Given the description of an element on the screen output the (x, y) to click on. 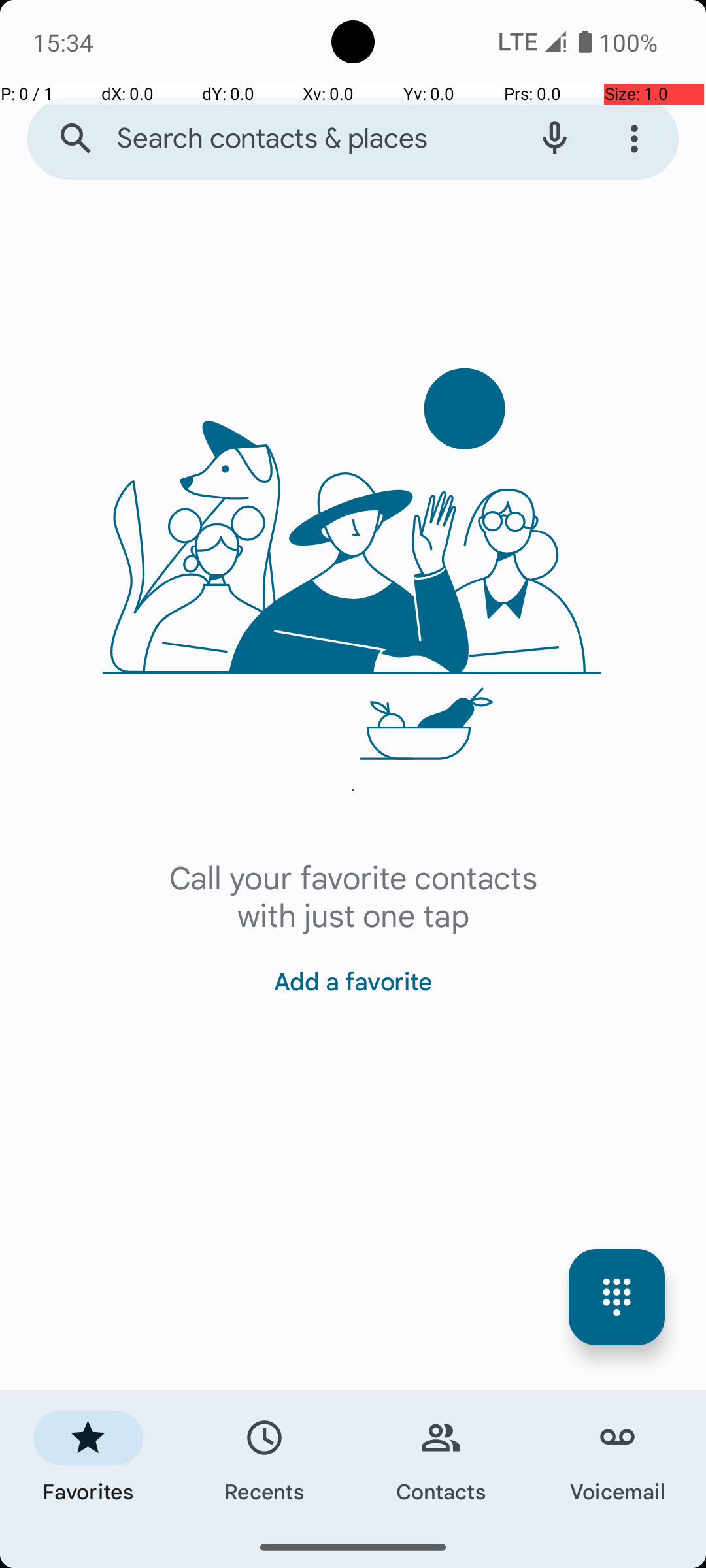
Call your favorite contacts with just one tap Element type: android.widget.TextView (352, 895)
Add a favorite Element type: android.widget.TextView (353, 973)
key pad Element type: android.widget.ImageButton (616, 1297)
Voicemail Element type: android.widget.FrameLayout (617, 1457)
